Given the description of an element on the screen output the (x, y) to click on. 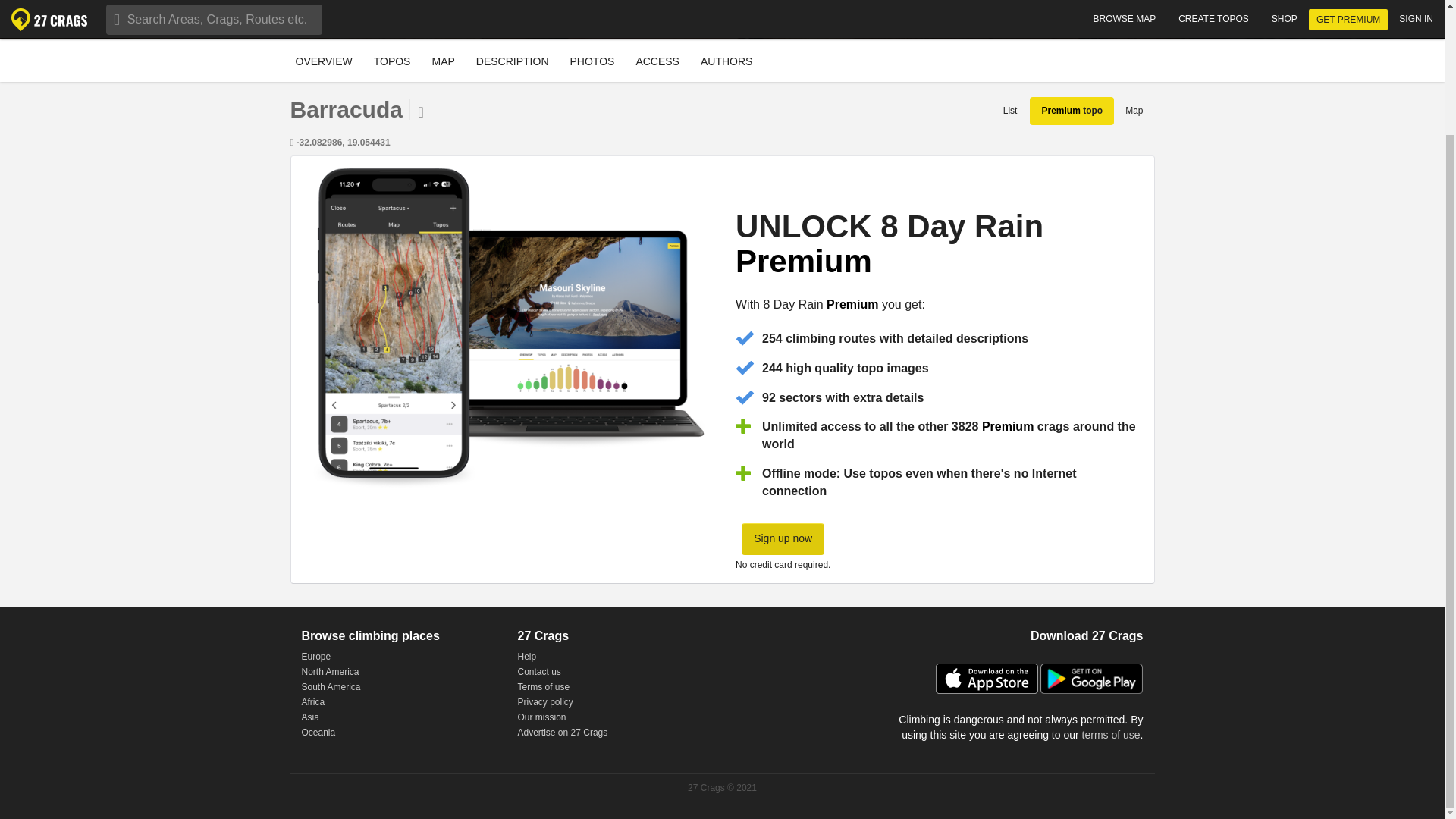
List (1010, 111)
PHOTOS (592, 60)
DESCRIPTION (512, 60)
AUTHORS (726, 60)
AUTHORS (726, 60)
TOPOS (391, 60)
OVERVIEW (322, 60)
OVERVIEW (525, 60)
PHOTOS (721, 60)
Map (323, 60)
TOPOS (593, 60)
ACCESS (1133, 111)
DESCRIPTION (392, 60)
